Given the description of an element on the screen output the (x, y) to click on. 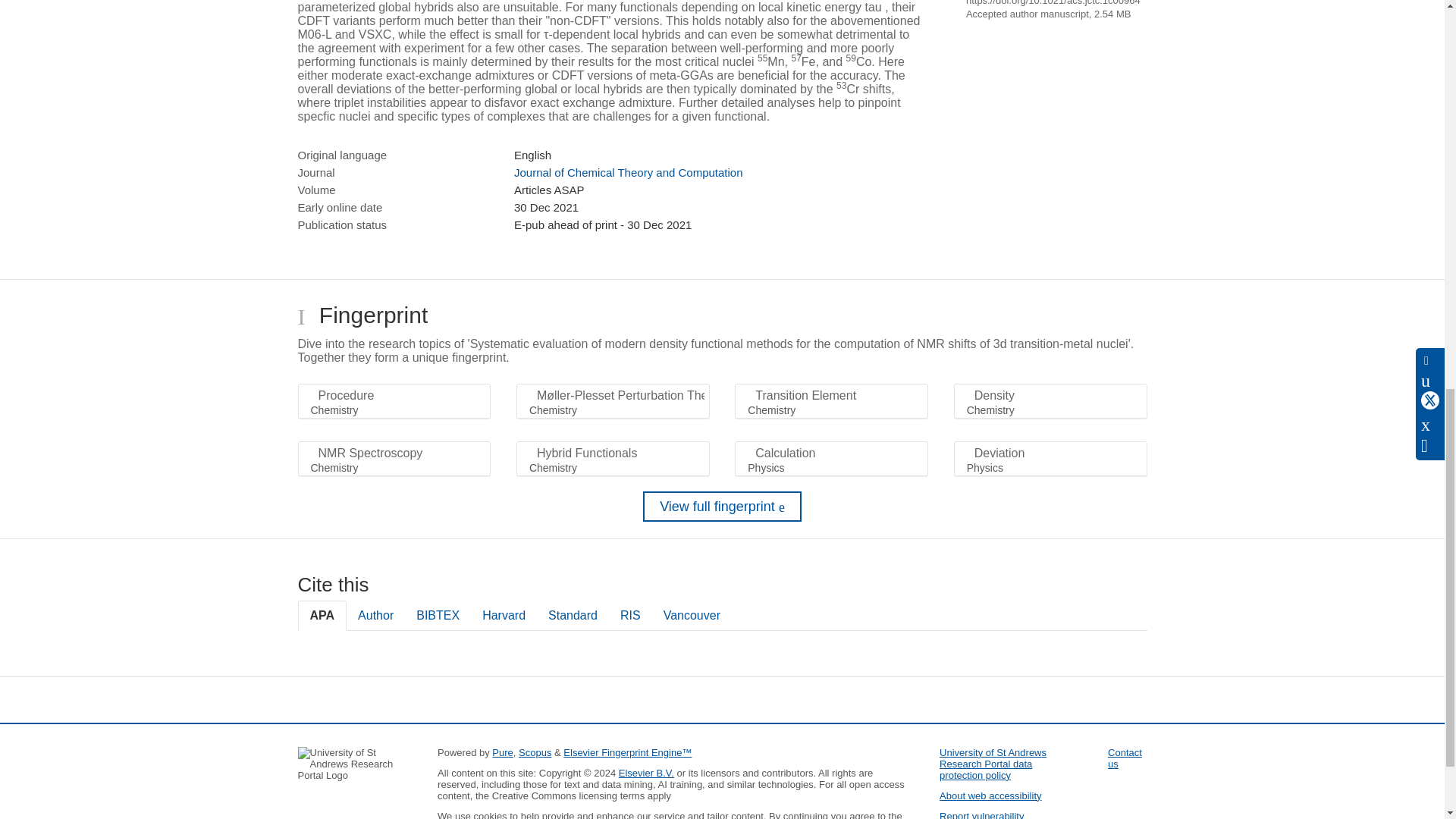
View full fingerprint (722, 506)
Journal of Chemical Theory and Computation (627, 172)
